Given the description of an element on the screen output the (x, y) to click on. 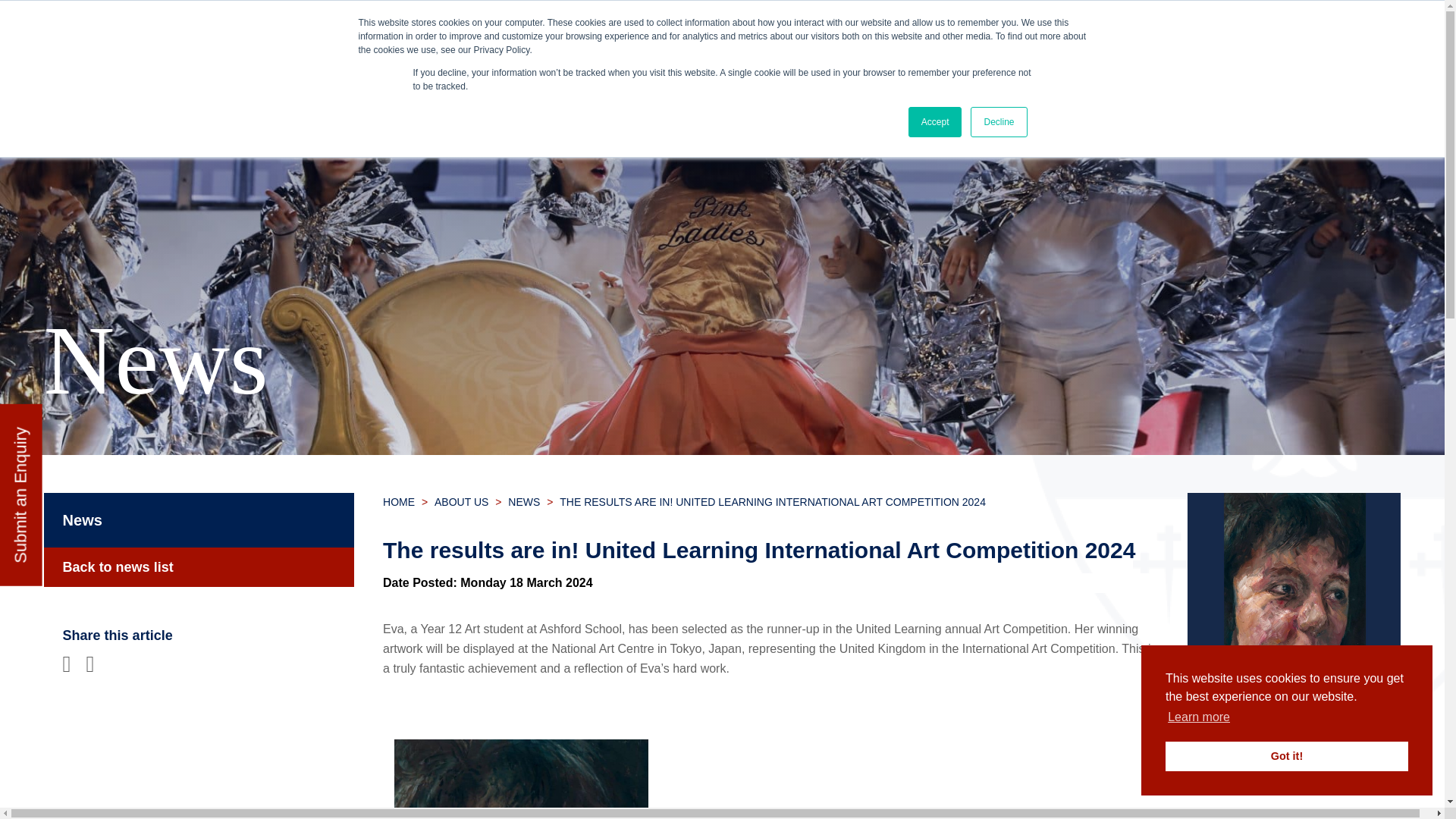
ABOUT US (257, 102)
PORTALS (1257, 42)
Decline (998, 122)
Learn more (1198, 716)
Accept (935, 122)
Got it! (1286, 757)
